Given the description of an element on the screen output the (x, y) to click on. 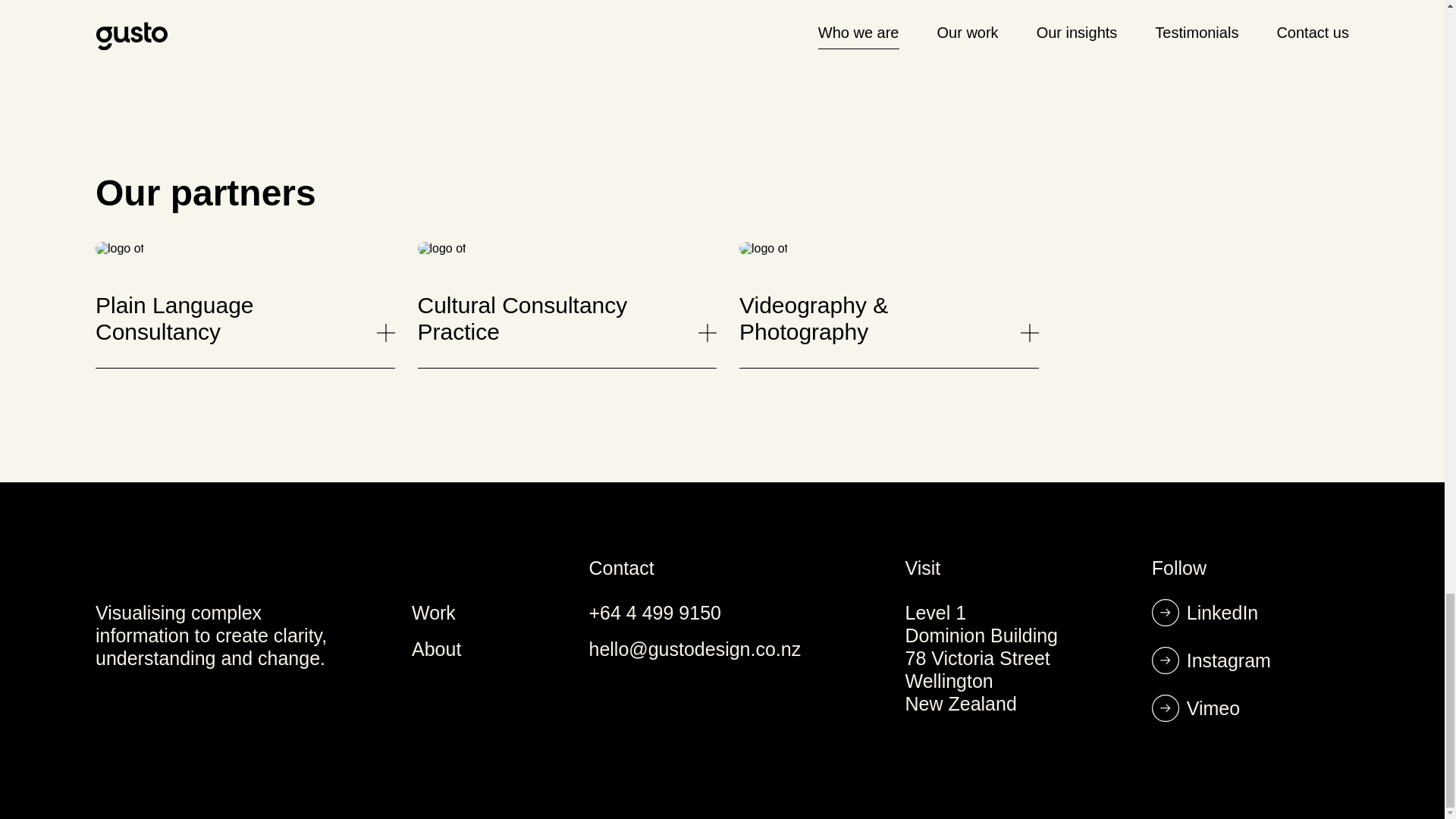
Vimeo (1213, 708)
About (436, 650)
Instagram (1228, 661)
LinkedIn (1222, 613)
Work (433, 613)
